Given the description of an element on the screen output the (x, y) to click on. 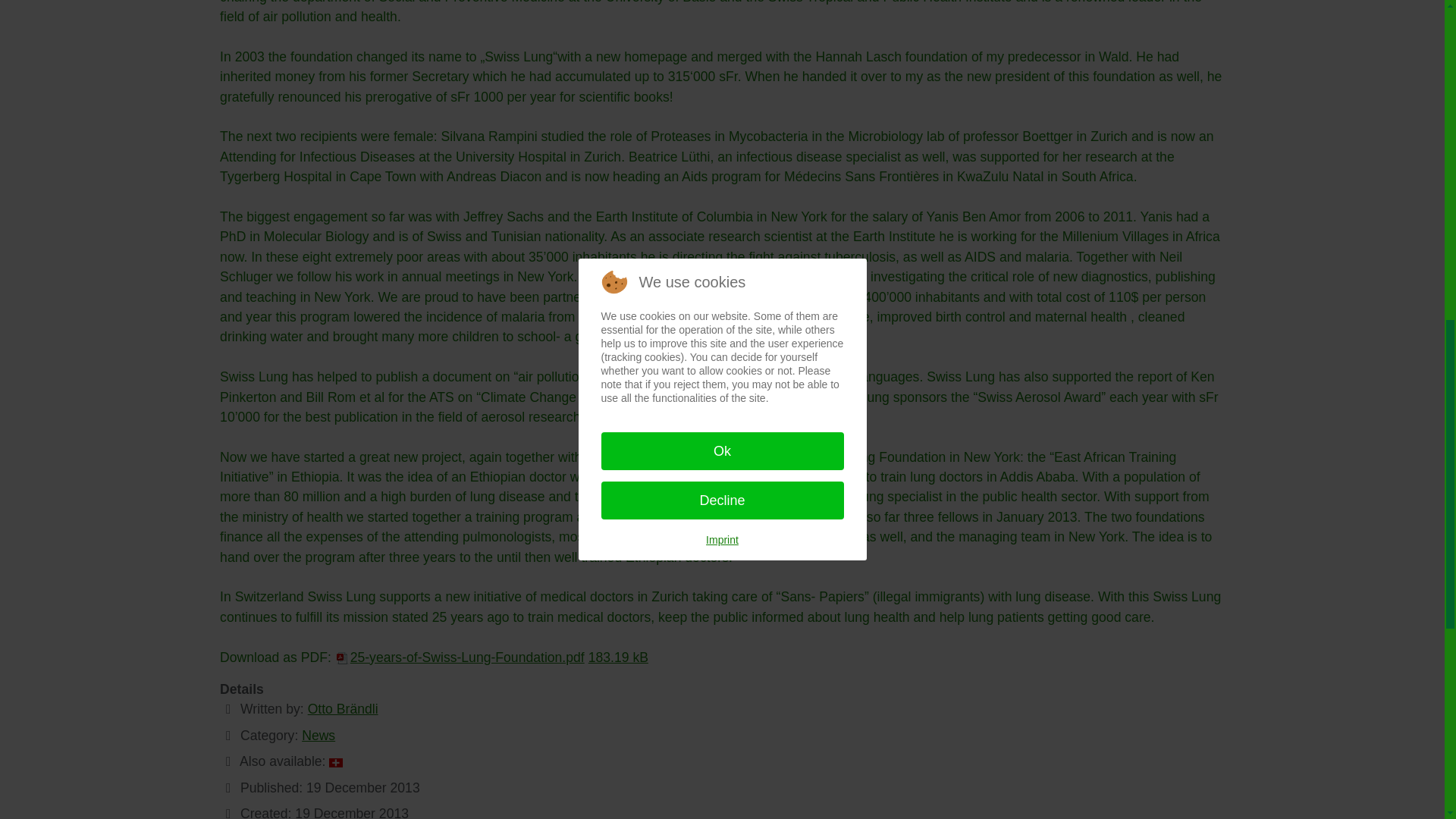
25-years-of-Swiss-Lung-Foundation.pdf183.19 kB (490, 657)
News (317, 735)
